Given the description of an element on the screen output the (x, y) to click on. 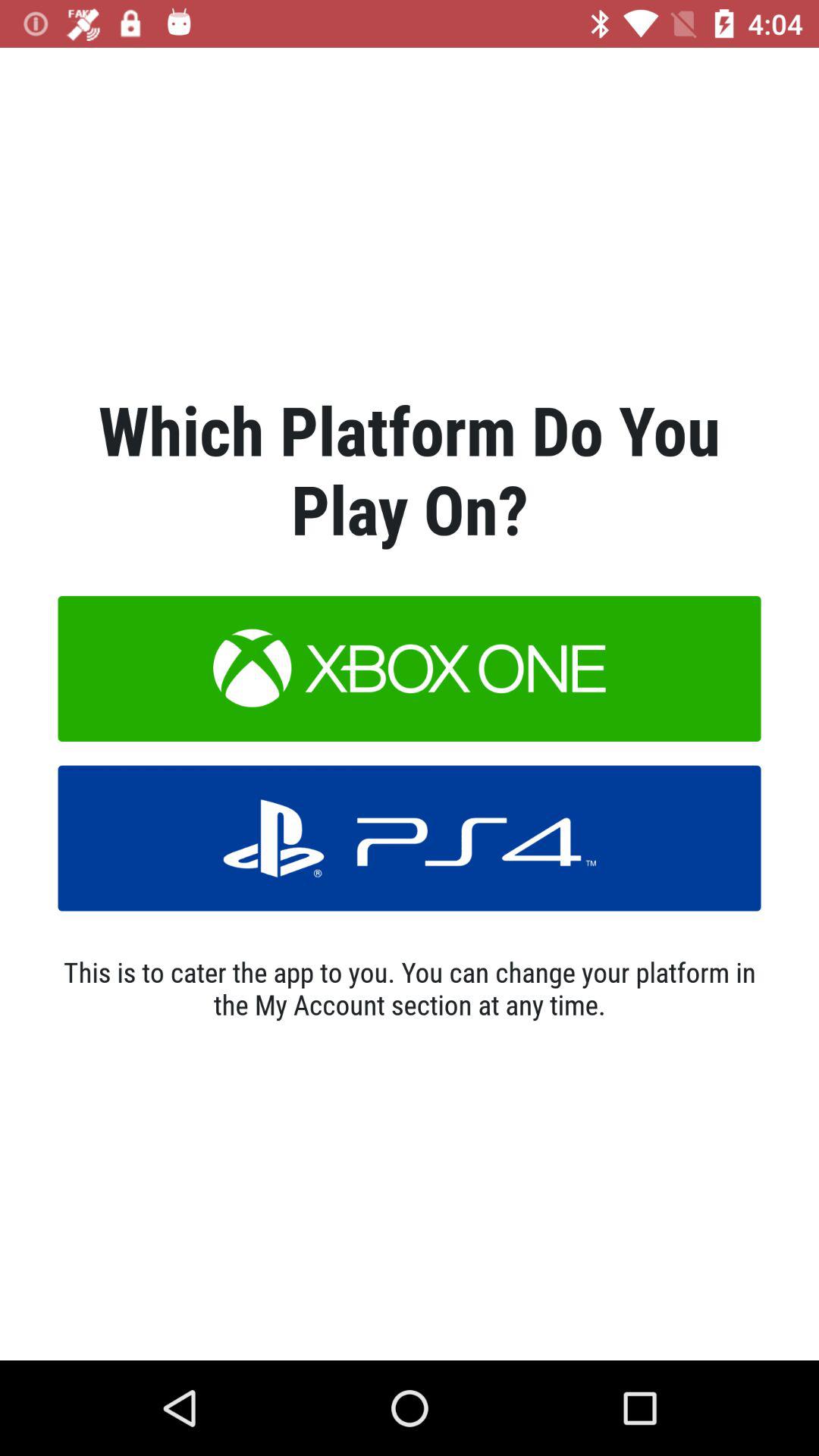
click the icon above the this is to icon (409, 838)
